Given the description of an element on the screen output the (x, y) to click on. 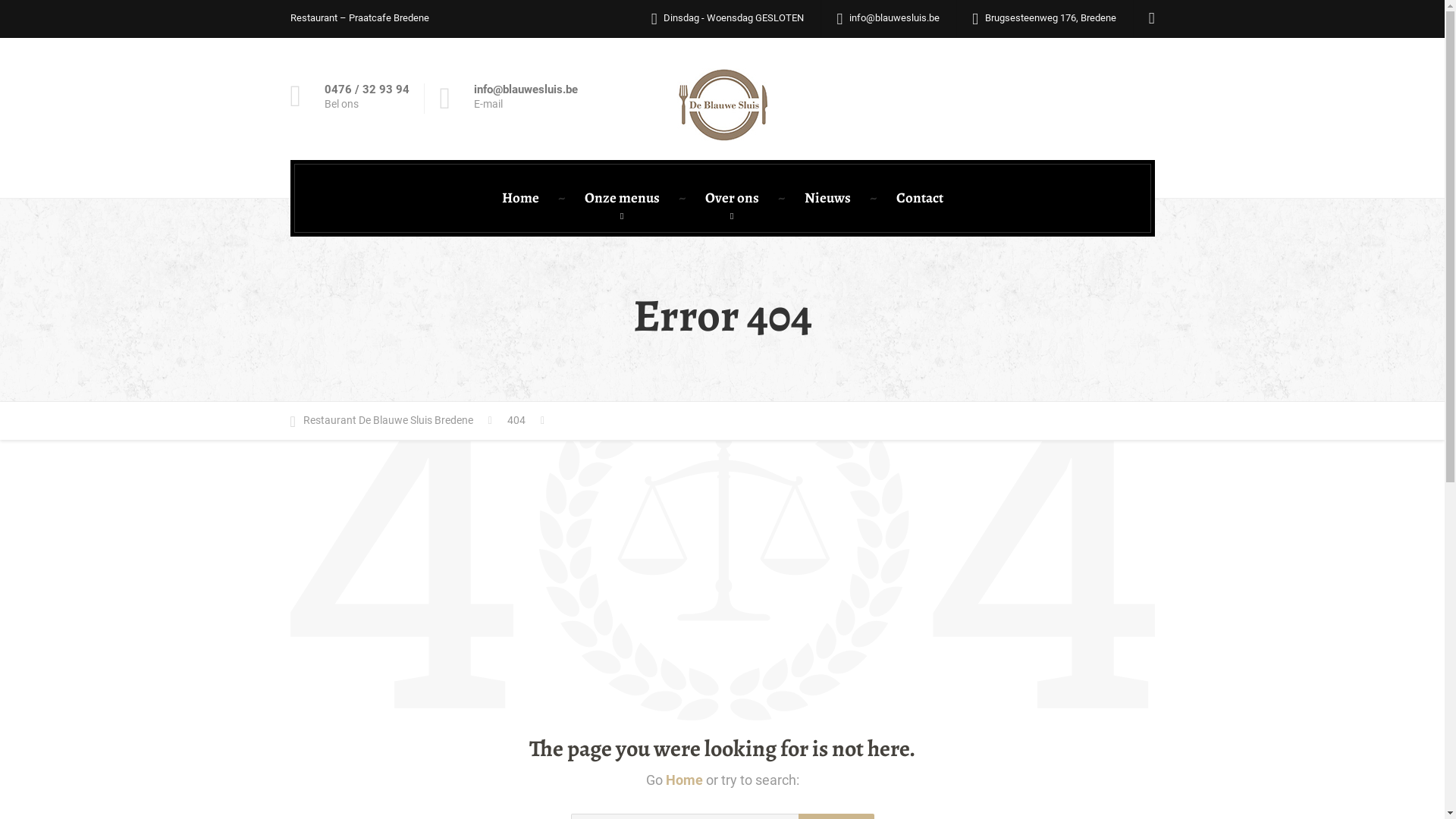
Contact Element type: text (919, 197)
Restaurant De Blauwe Sluis Bredene Element type: text (390, 420)
info@blauwesluis.be
E-mail Element type: text (508, 98)
Home Element type: text (683, 779)
0476 / 32 93 94
Bel ons Element type: text (348, 97)
Nieuws Element type: text (826, 197)
Over ons Element type: text (731, 197)
Home Element type: text (520, 197)
404 Element type: text (525, 420)
Onze menus Element type: text (621, 197)
